Given the description of an element on the screen output the (x, y) to click on. 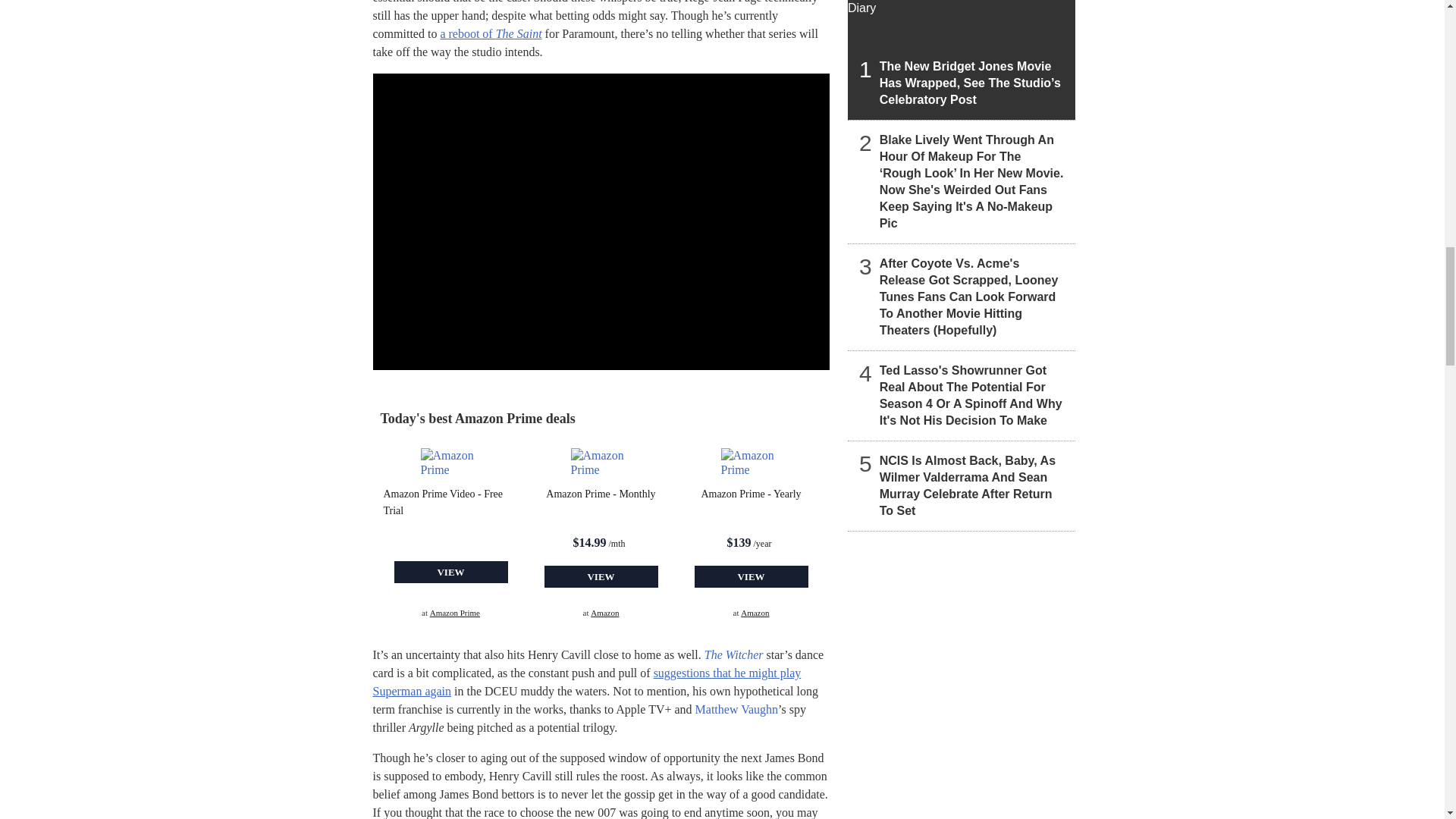
Amazon Prime (600, 462)
Amazon Prime (450, 462)
Amazon Prime (750, 462)
